Given the description of an element on the screen output the (x, y) to click on. 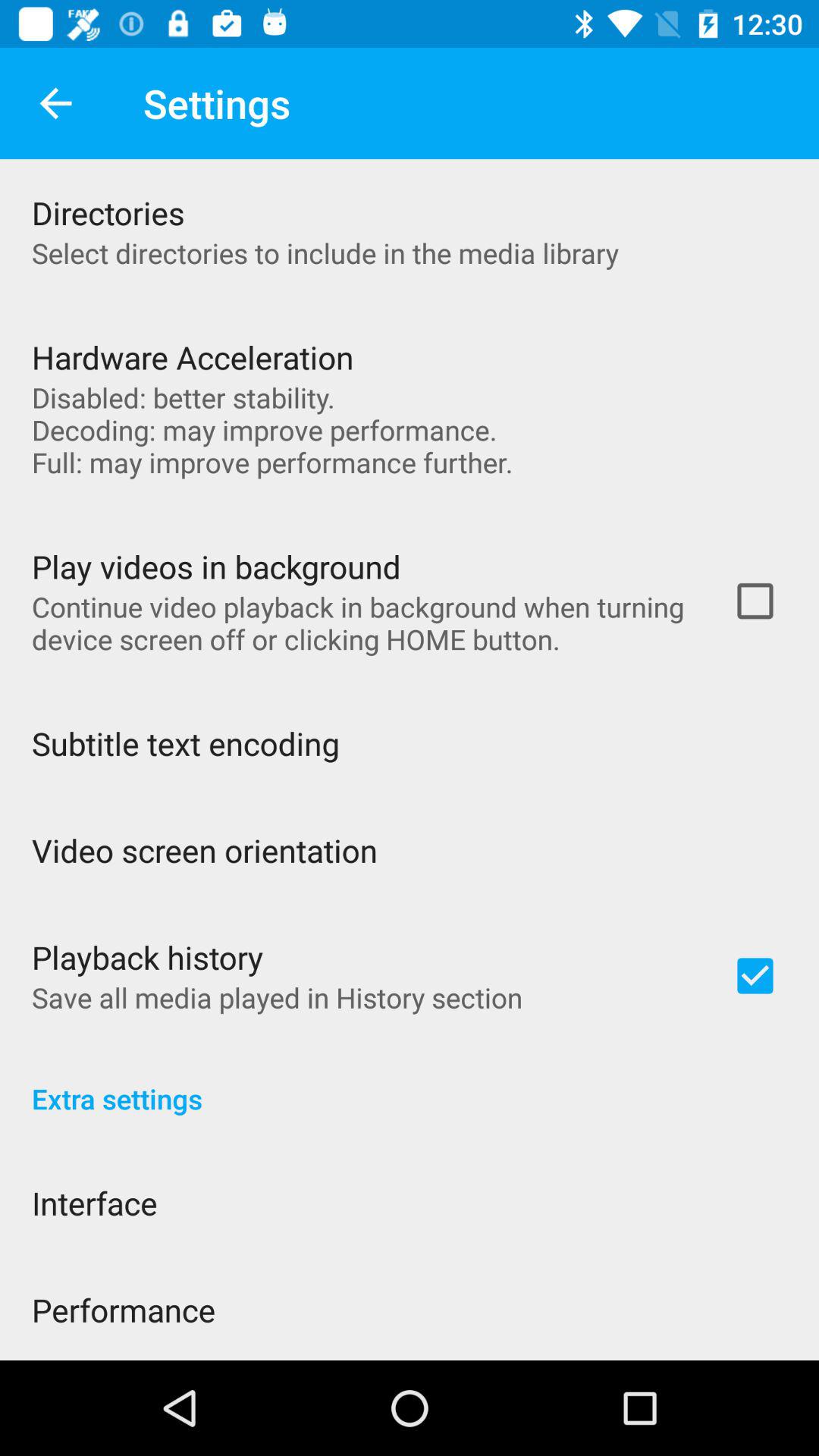
open the item next to settings icon (55, 103)
